Given the description of an element on the screen output the (x, y) to click on. 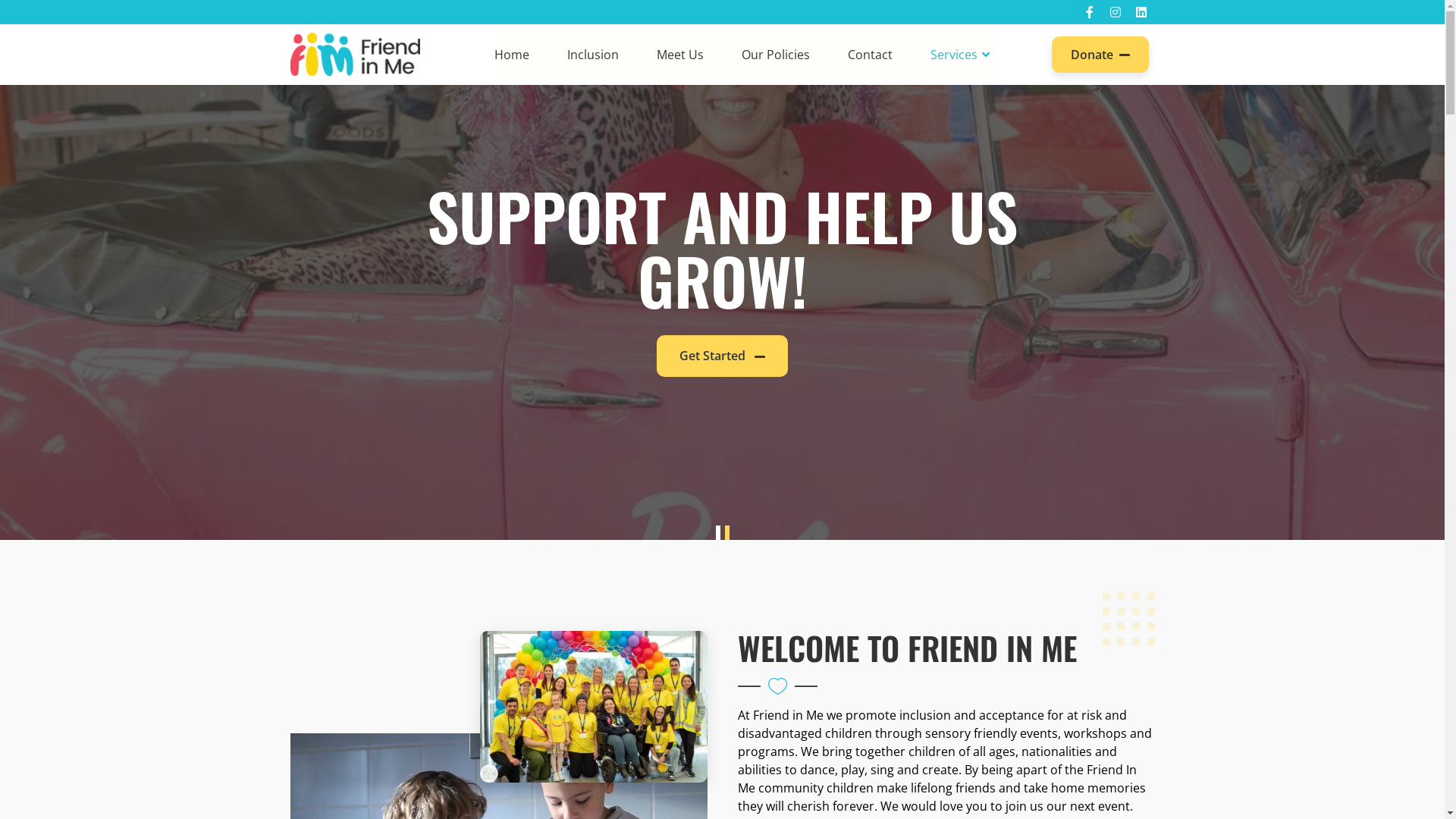
Contact Element type: text (869, 54)
Home Element type: text (521, 54)
Get Started Element type: text (721, 356)
2 Element type: text (726, 532)
Inclusion Element type: text (592, 54)
Our Policies Element type: text (775, 54)
Services Element type: text (952, 54)
Meet Us Element type: text (679, 54)
Donate Element type: text (1099, 54)
1 Element type: text (717, 532)
